Given the description of an element on the screen output the (x, y) to click on. 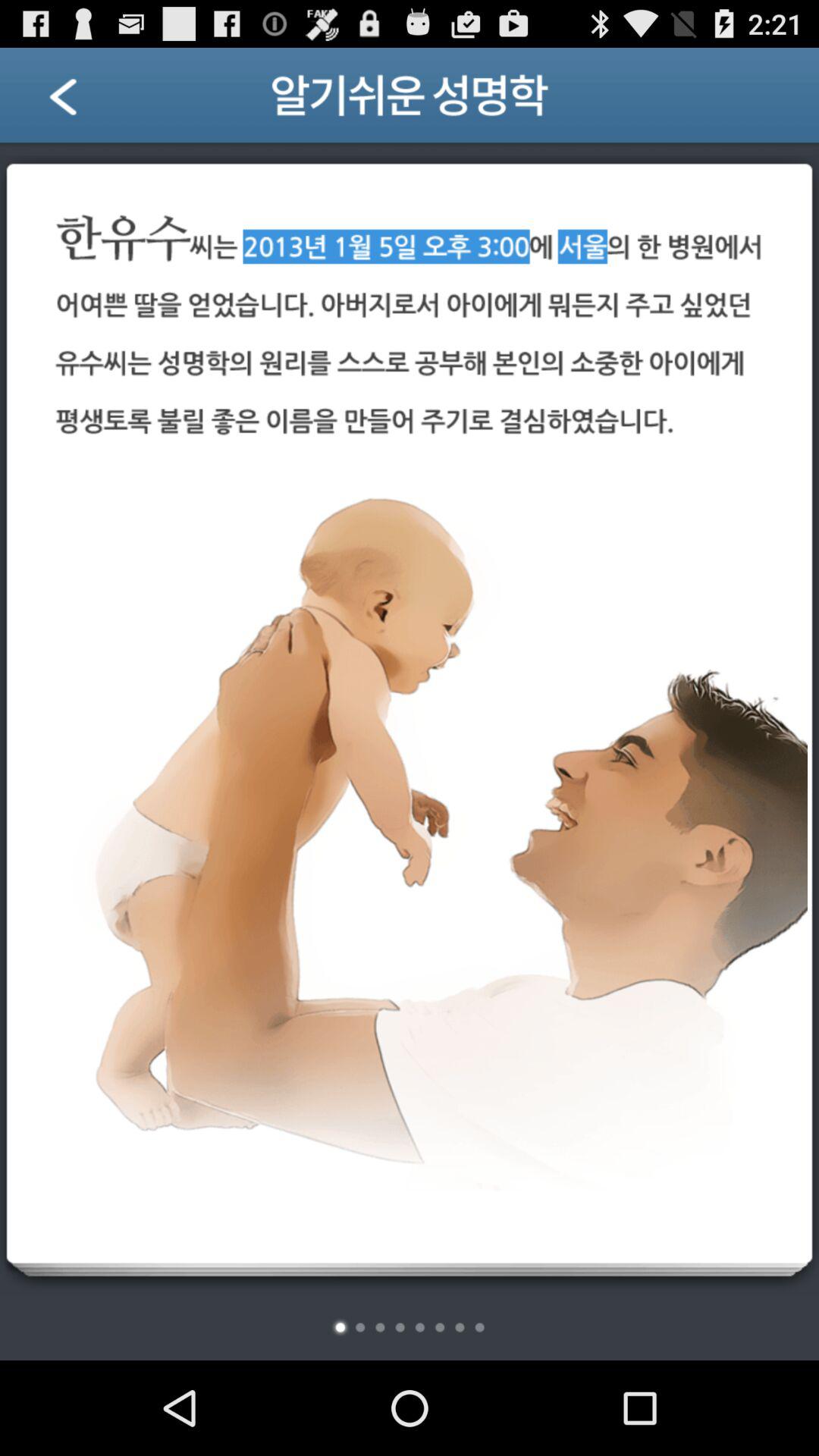
go back (81, 101)
